Given the description of an element on the screen output the (x, y) to click on. 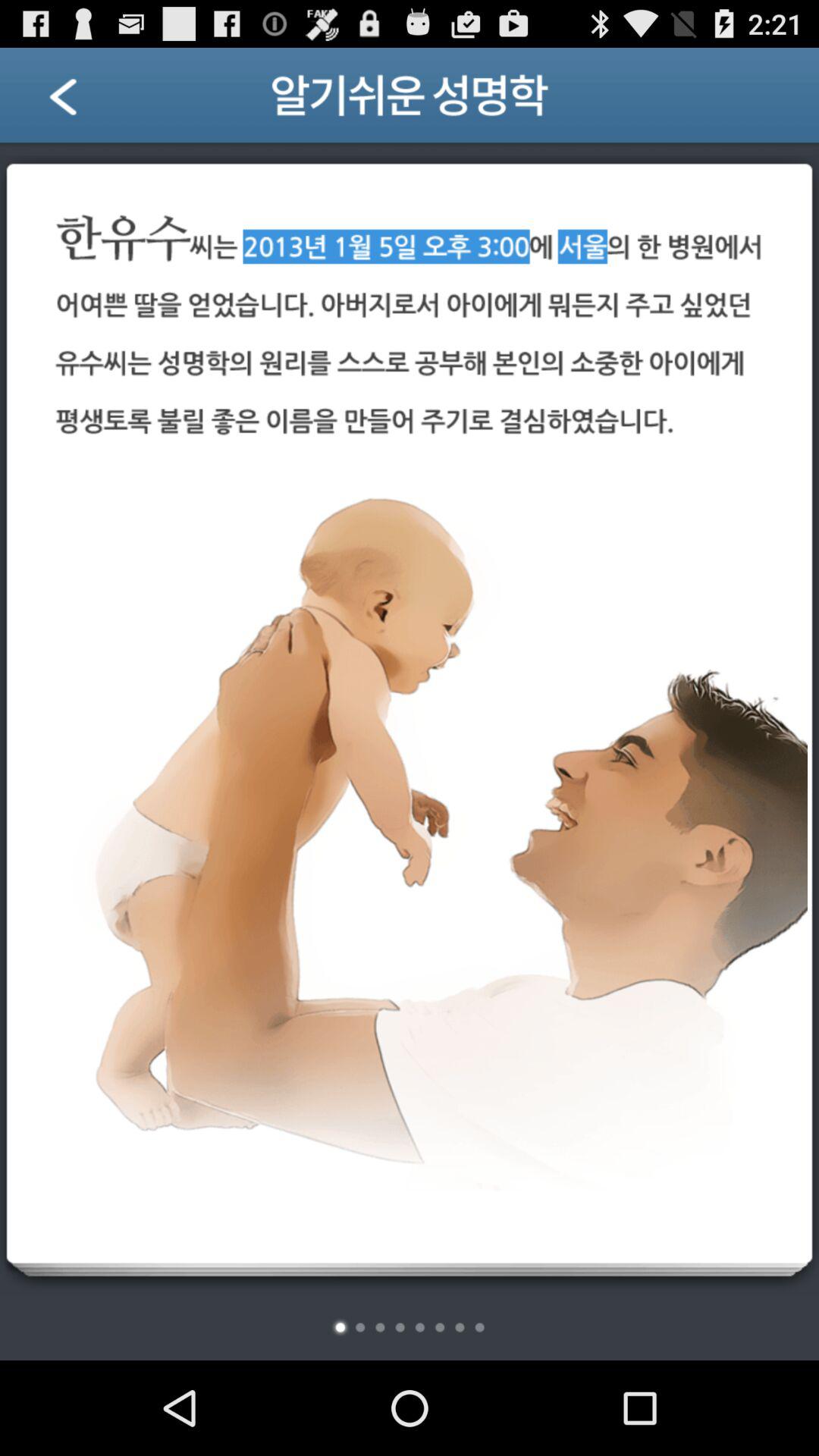
go back (81, 101)
